Given the description of an element on the screen output the (x, y) to click on. 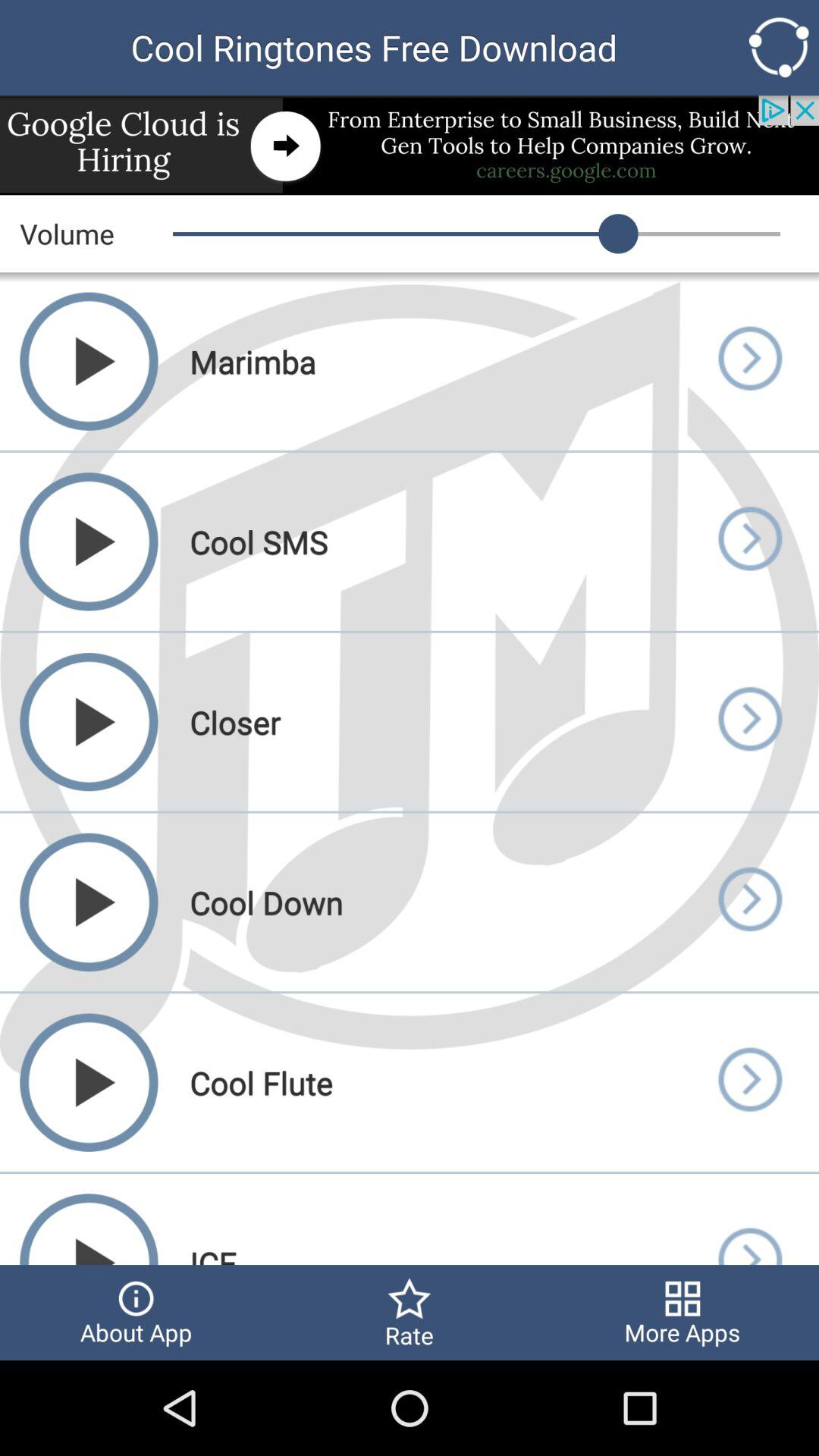
click more (749, 361)
